Given the description of an element on the screen output the (x, y) to click on. 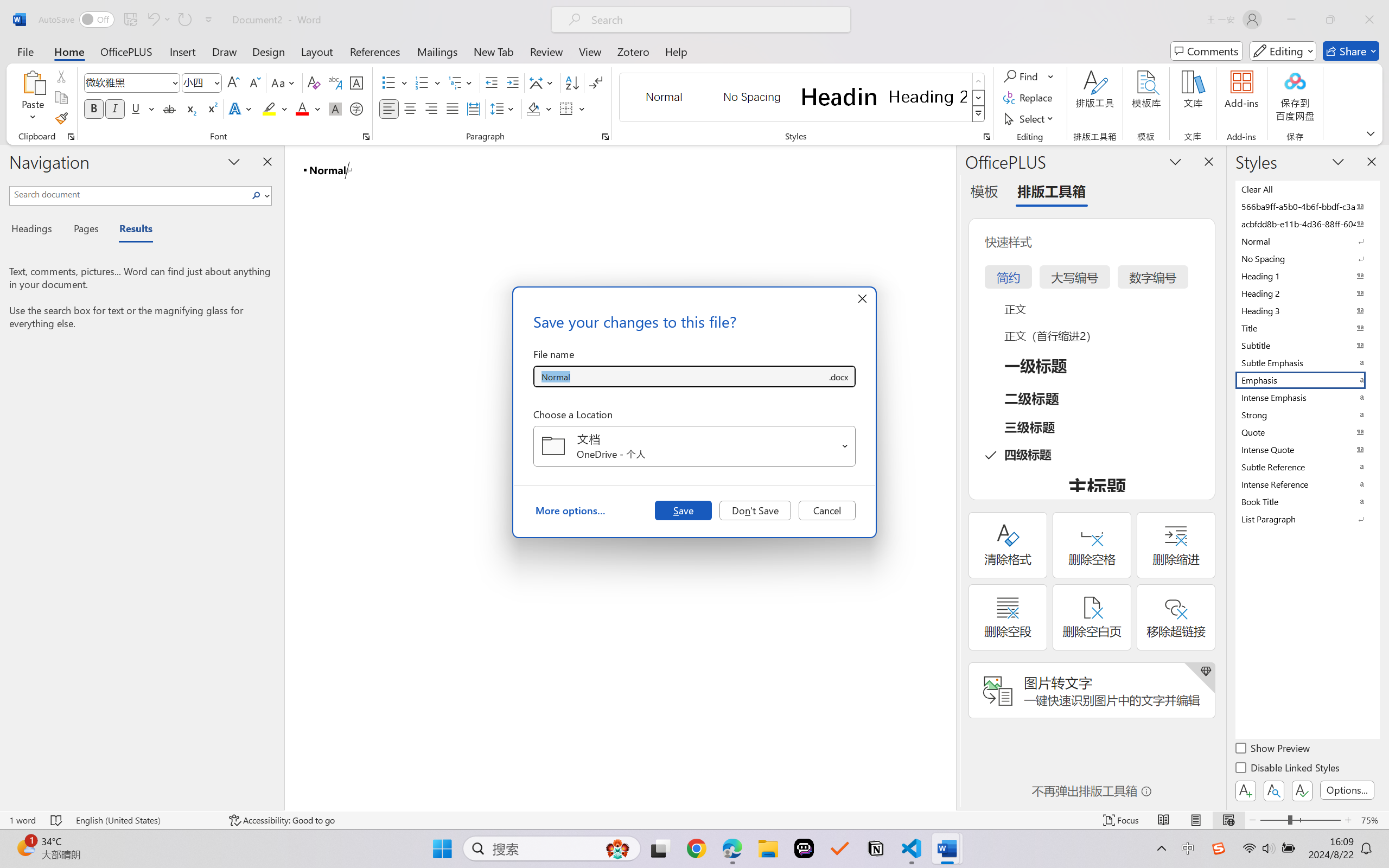
Normal (1306, 240)
Can't Repeat (184, 19)
Subtle Emphasis (1306, 362)
Find (1029, 75)
AutomationID: DynamicSearchBoxGleamImage (617, 848)
Don't Save (755, 509)
Headings (35, 229)
Borders (571, 108)
